Given the description of an element on the screen output the (x, y) to click on. 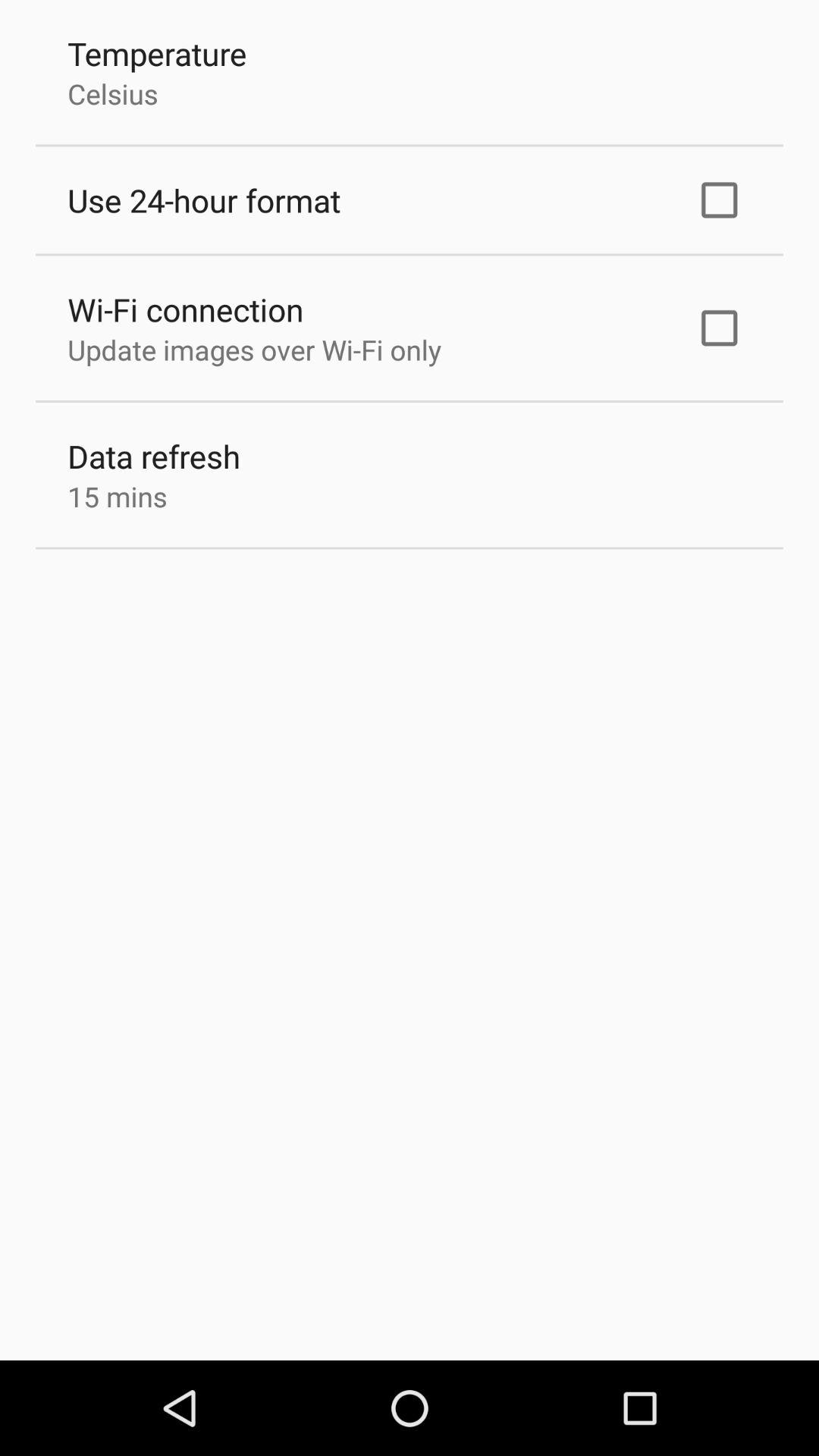
press update images over icon (254, 349)
